Given the description of an element on the screen output the (x, y) to click on. 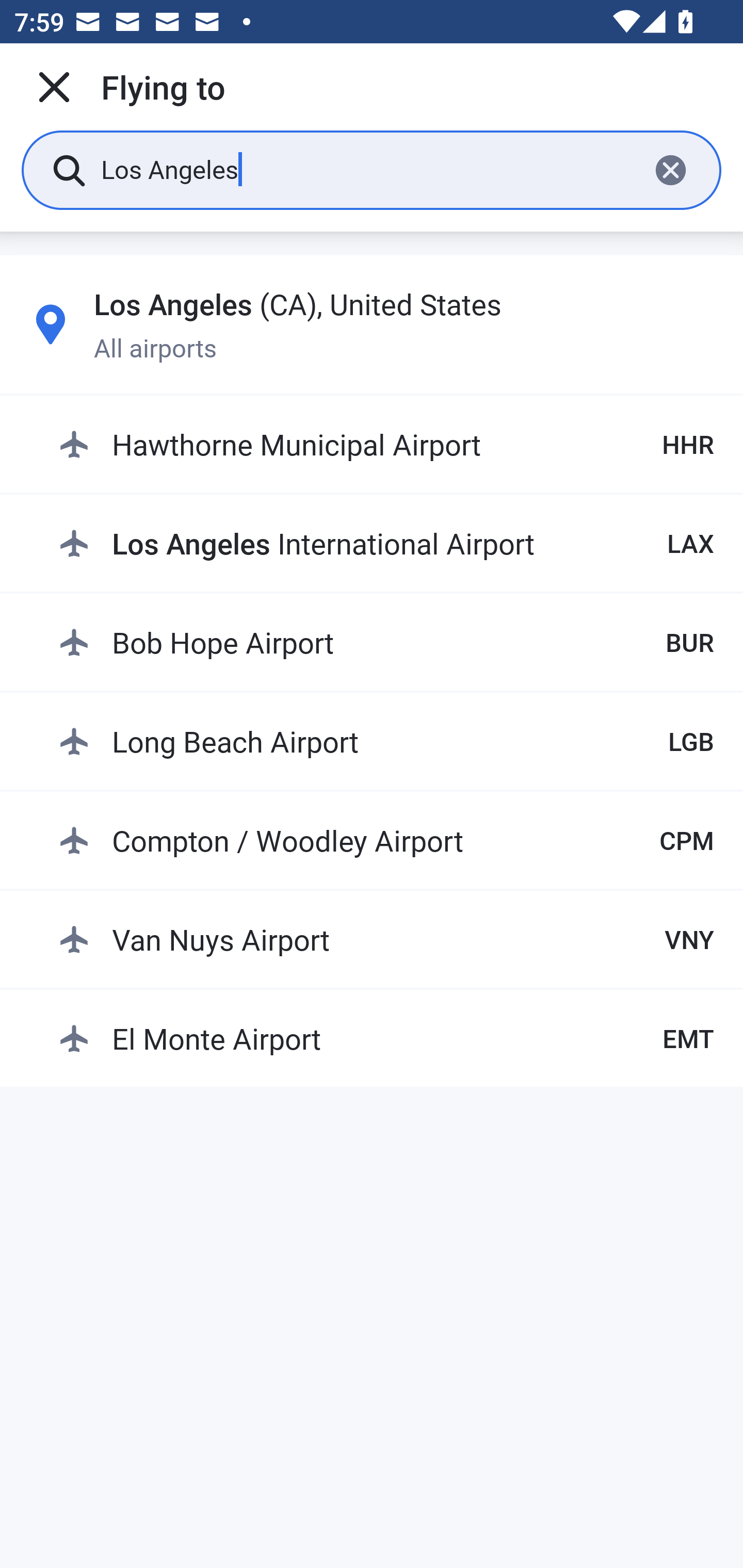
Los Angeles (367, 169)
Los Angeles (CA), United States All airports (371, 324)
Hawthorne Municipal Airport HHR (385, 444)
Los Angeles International Airport LAX (385, 543)
Bob Hope Airport BUR (385, 641)
Long Beach Airport LGB (385, 740)
Compton / Woodley Airport CPM (385, 839)
Van Nuys Airport VNY (385, 939)
El Monte Airport EMT (385, 1038)
